Given the description of an element on the screen output the (x, y) to click on. 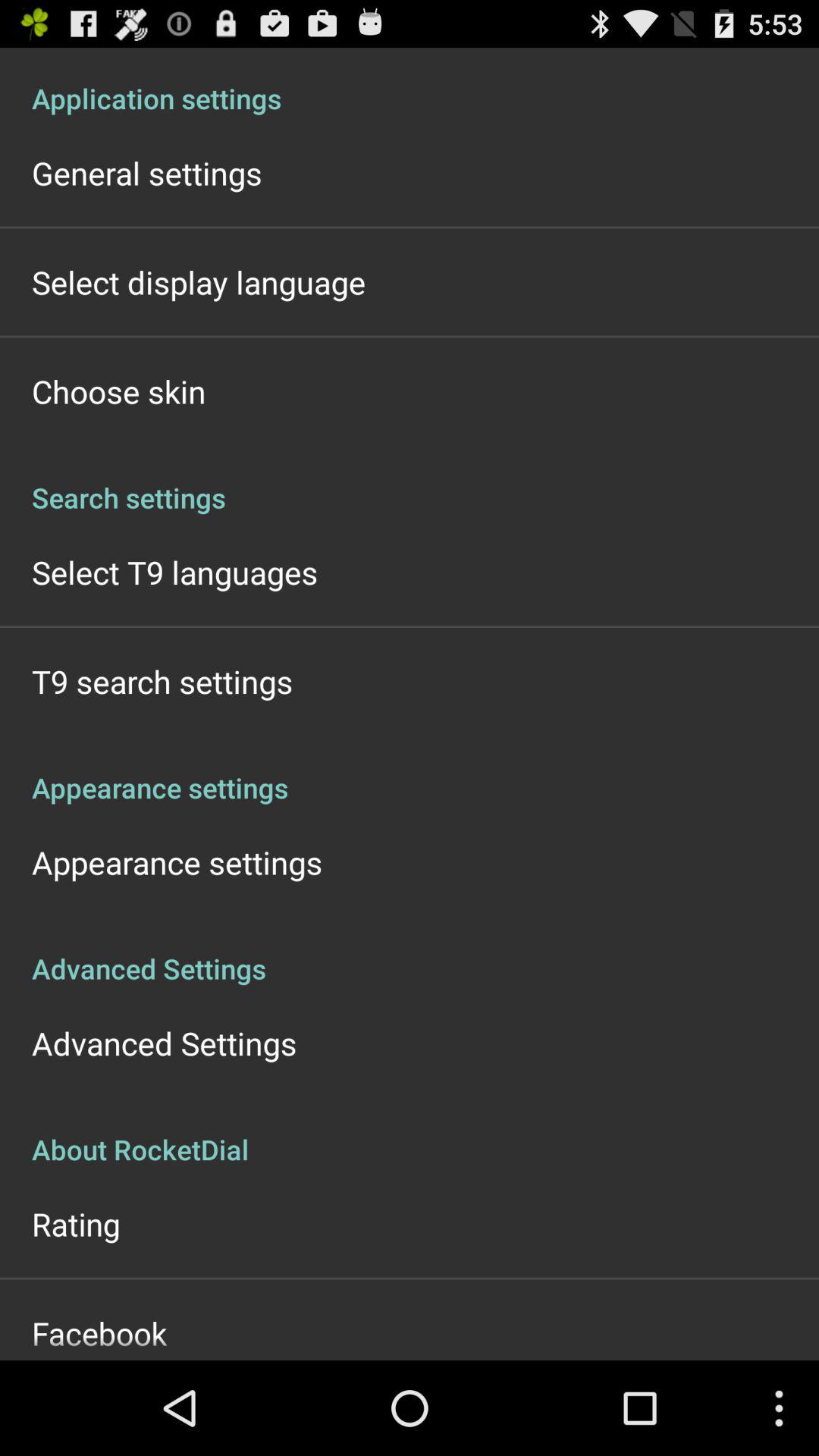
launch icon below the rating app (99, 1332)
